Given the description of an element on the screen output the (x, y) to click on. 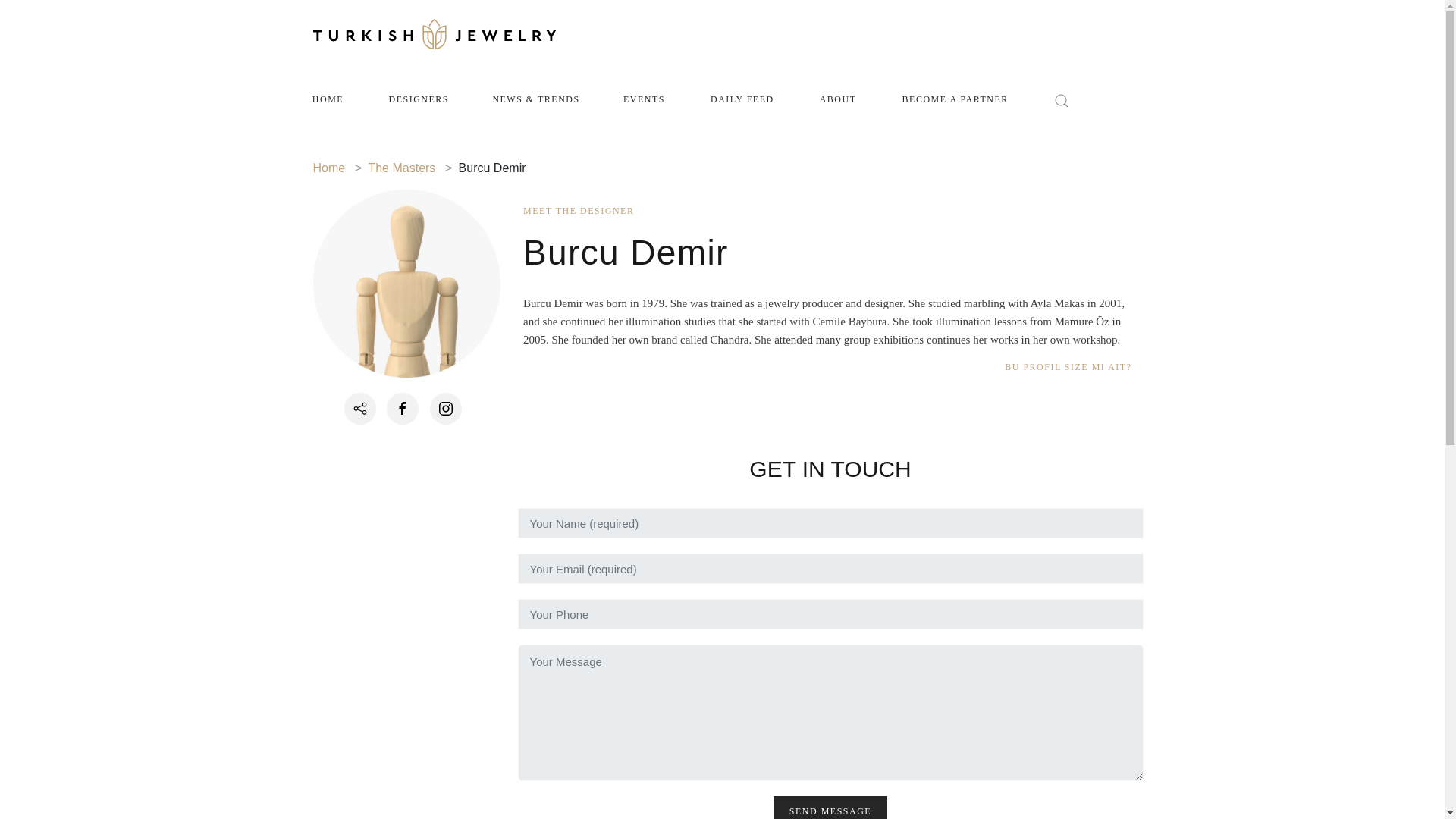
ABOUT (837, 99)
DESIGNERS (418, 99)
HOME (327, 99)
Home (329, 167)
The Masters (401, 167)
BECOME A PARTNER (954, 99)
SEND MESSAGE (829, 807)
DAILY FEED (741, 99)
EVENTS (643, 99)
